Given the description of an element on the screen output the (x, y) to click on. 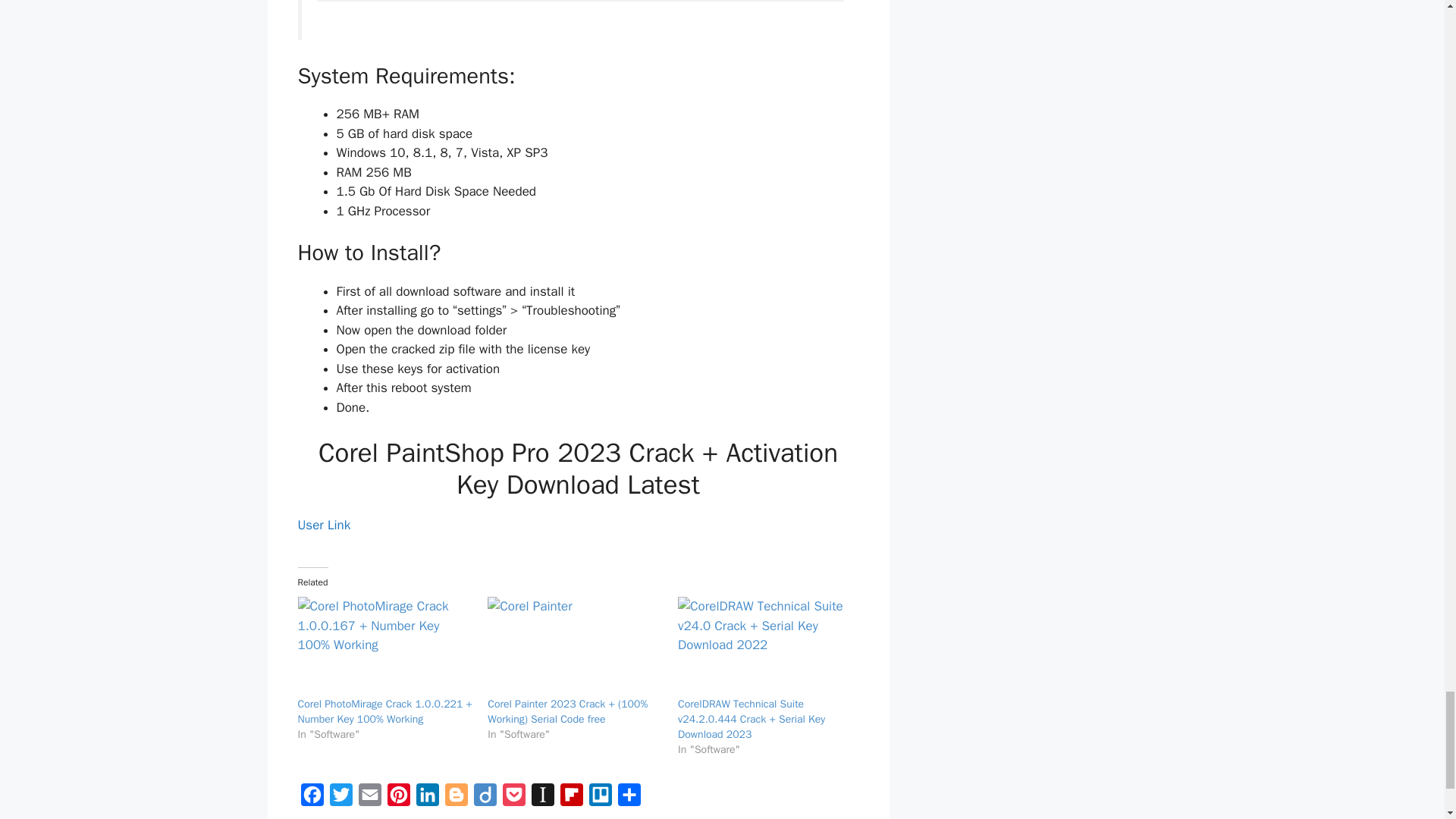
Facebook (311, 798)
Facebook (311, 798)
Twitter (340, 798)
Pocket (513, 798)
LinkedIn (426, 798)
Trello (599, 798)
Blogger (455, 798)
Flipboard (570, 798)
Pinterest (398, 798)
Diigo (484, 798)
